Given the description of an element on the screen output the (x, y) to click on. 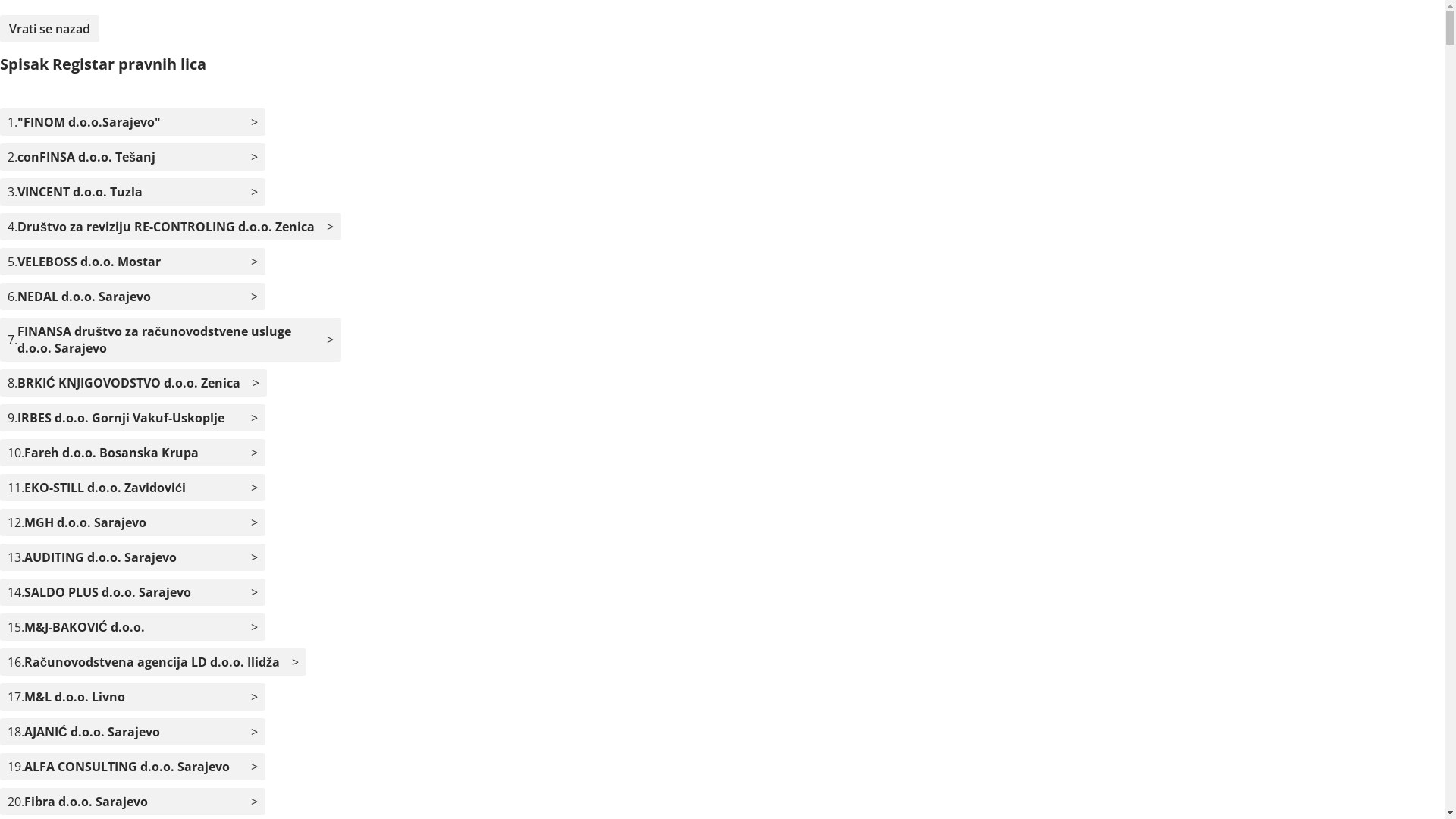
10.
Fareh d.o.o. Bosanska Krupa Element type: text (132, 452)
13.
AUDITING d.o.o. Sarajevo Element type: text (132, 557)
12.
MGH d.o.o. Sarajevo Element type: text (132, 522)
14.
SALDO PLUS d.o.o. Sarajevo Element type: text (132, 591)
6.
NEDAL d.o.o. Sarajevo Element type: text (132, 296)
17.
M&L d.o.o. Livno Element type: text (132, 696)
Vrati se nazad Element type: text (49, 28)
20.
Fibra d.o.o. Sarajevo Element type: text (132, 801)
9.
IRBES d.o.o. Gornji Vakuf-Uskoplje Element type: text (132, 417)
1.
"FINOM d.o.o.Sarajevo" Element type: text (132, 121)
19.
ALFA CONSULTING d.o.o. Sarajevo Element type: text (132, 766)
3.
VINCENT d.o.o. Tuzla Element type: text (132, 191)
5.
VELEBOSS d.o.o. Mostar Element type: text (132, 261)
